Given the description of an element on the screen output the (x, y) to click on. 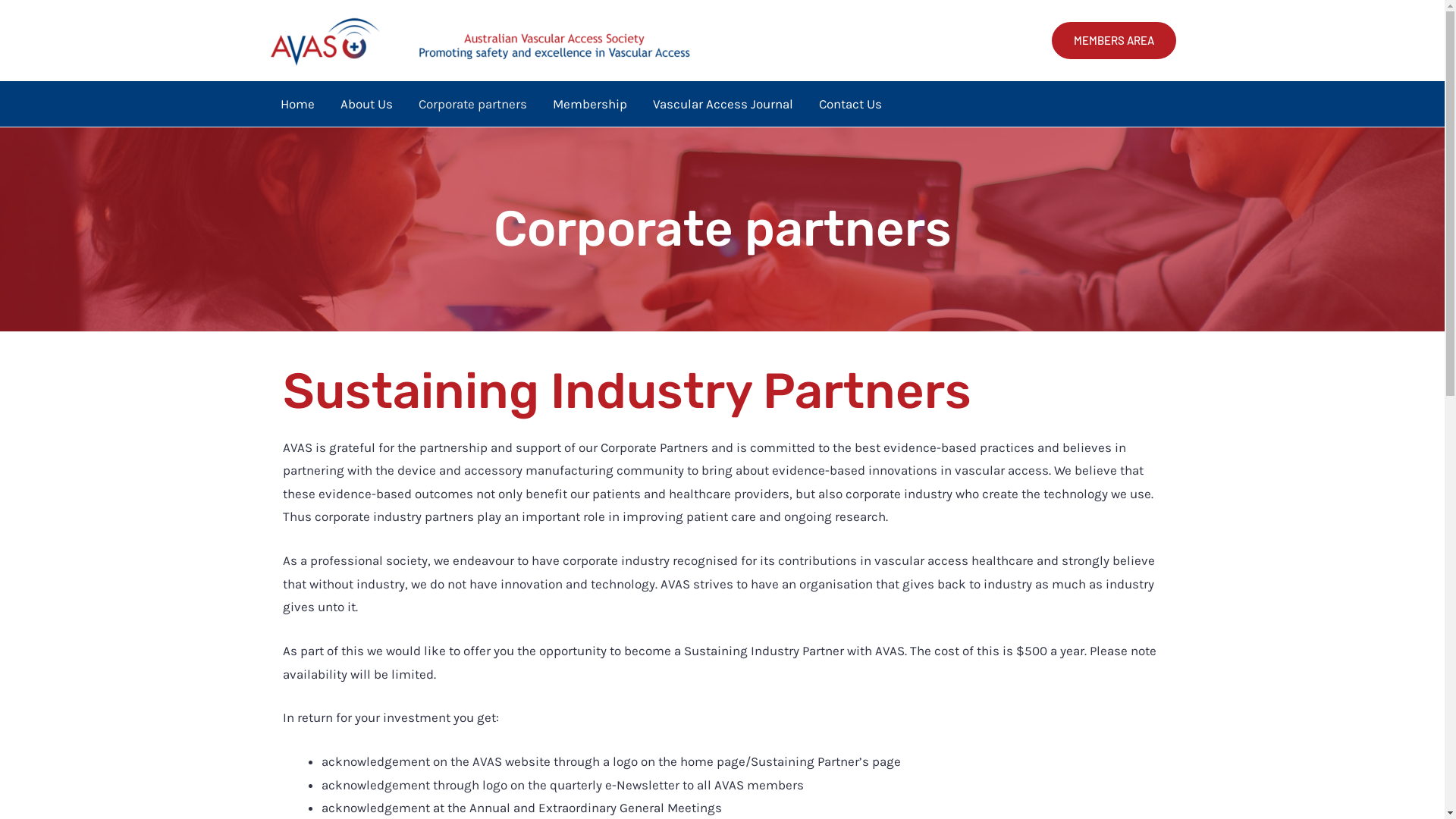
Membership Element type: text (589, 103)
About Us Element type: text (366, 103)
Home Element type: text (296, 103)
MEMBERS AREA Element type: text (1112, 40)
Corporate partners Element type: text (471, 103)
Vascular Access Journal Element type: text (723, 103)
Contact Us Element type: text (849, 103)
